Given the description of an element on the screen output the (x, y) to click on. 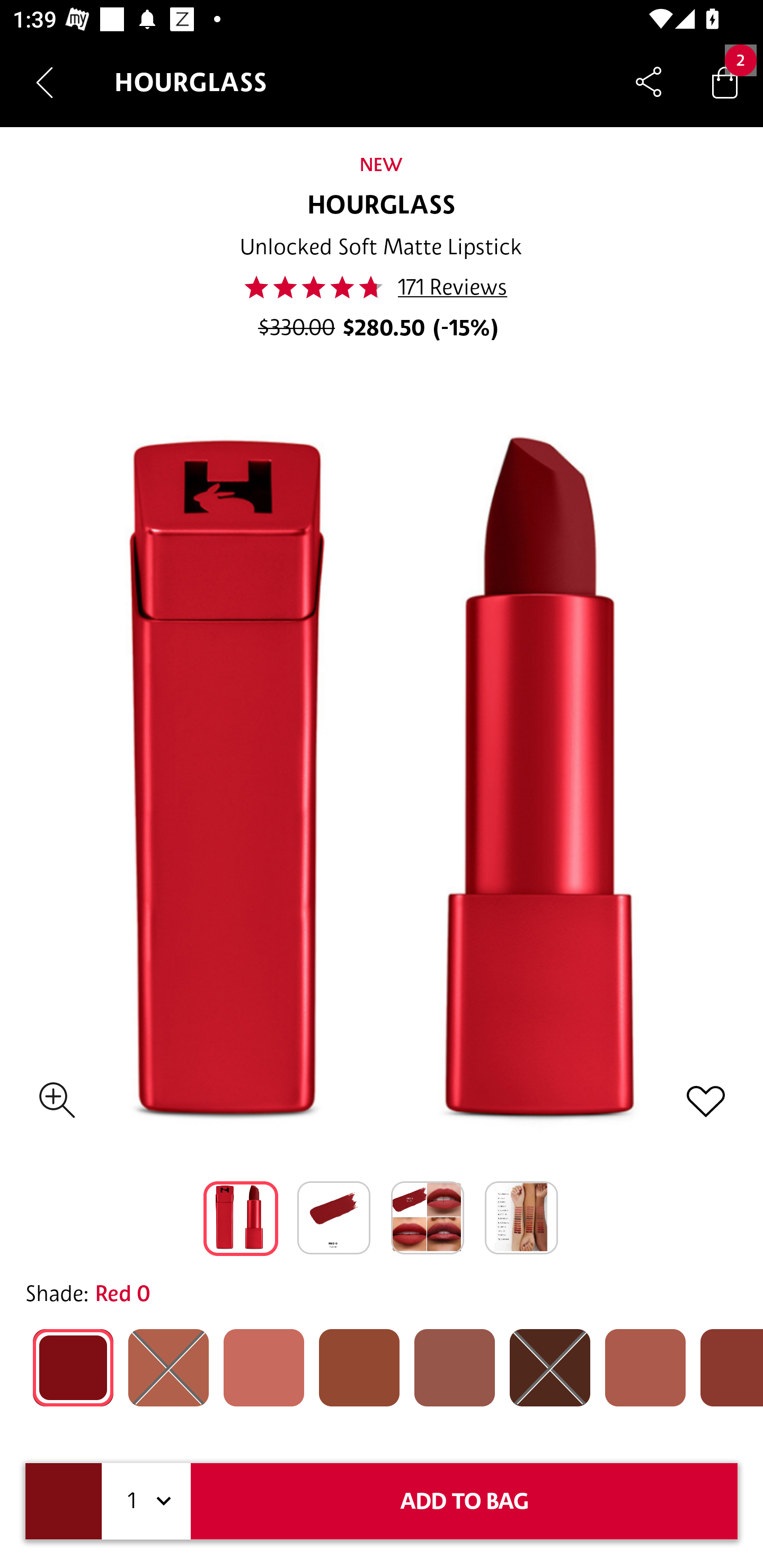
Navigate up (44, 82)
Share (648, 81)
Bag (724, 81)
HOURGLASS (381, 205)
47.0 171 Reviews (380, 286)
1 (145, 1500)
ADD TO BAG (463, 1500)
